Given the description of an element on the screen output the (x, y) to click on. 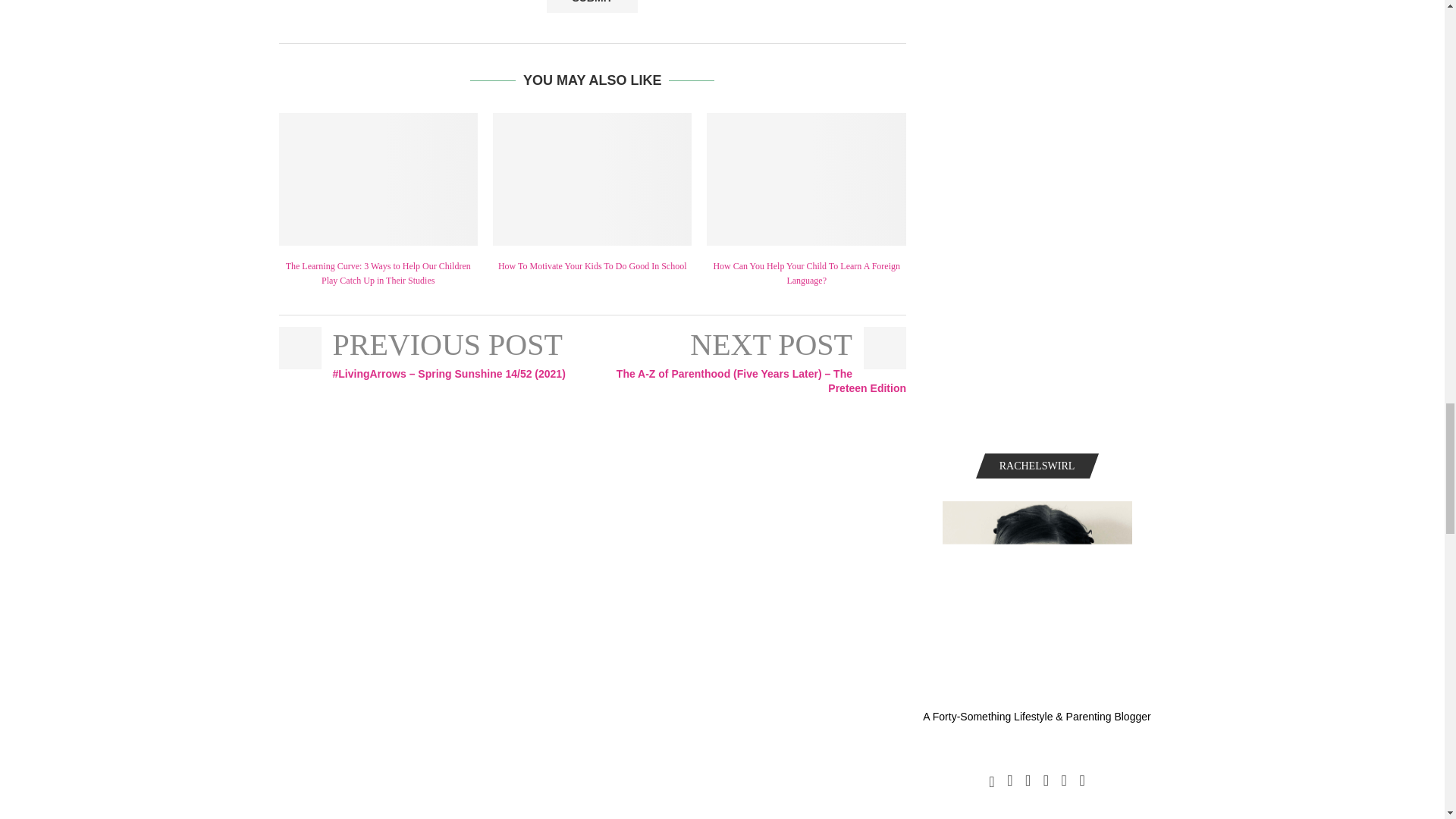
How To Motivate Your Kids To Do Good In School (592, 266)
How Can You Help Your Child To Learn A Foreign Language? (806, 273)
How To Motivate Your Kids To Do Good In School (592, 179)
Submit (592, 6)
How Can You Help Your Child To Learn A Foreign Language? (805, 179)
Submit (592, 6)
